Given the description of an element on the screen output the (x, y) to click on. 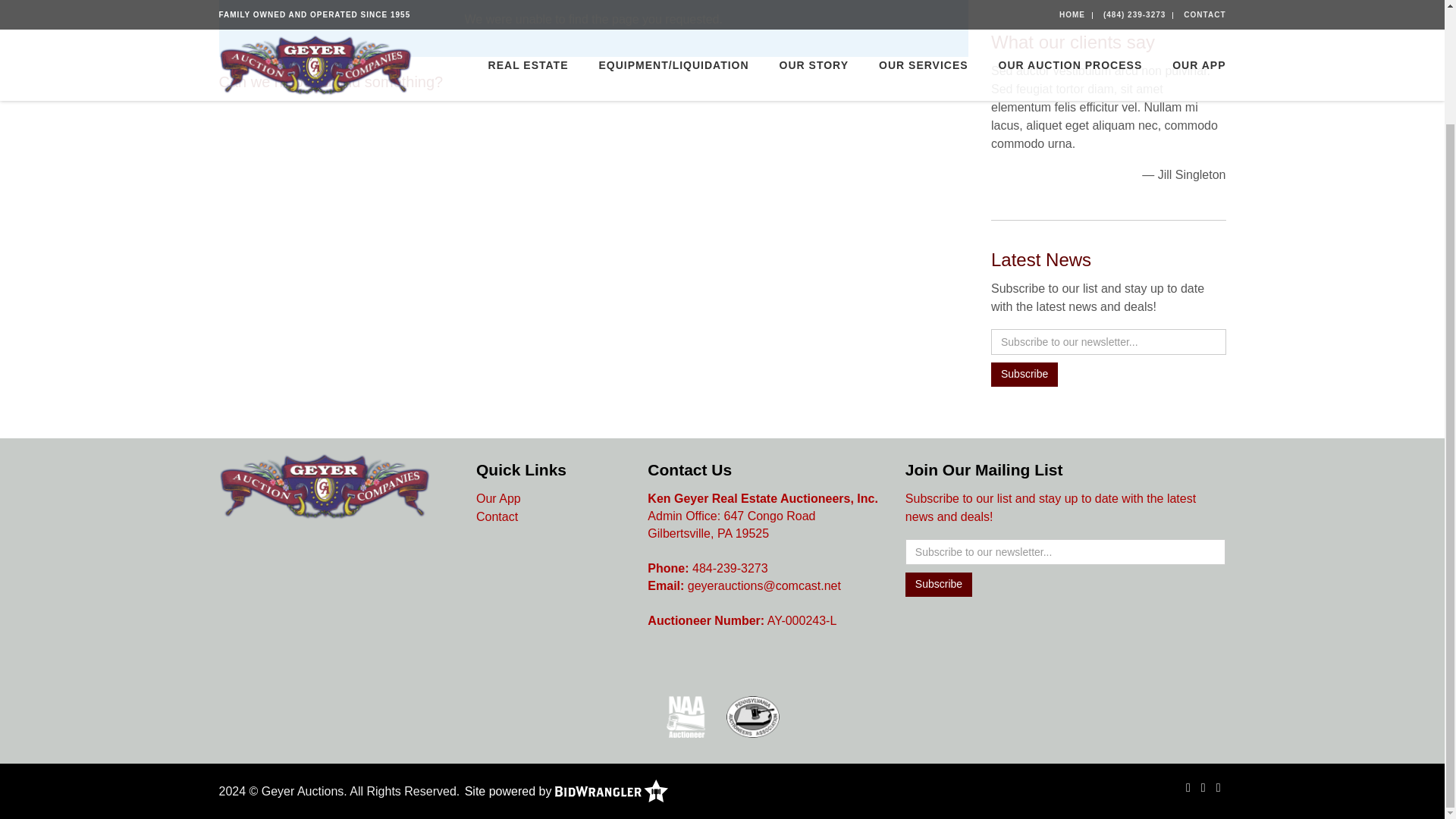
Contact (497, 516)
Never miss a bidder. (566, 790)
Our App (498, 498)
Geyer Auctions (323, 498)
Subscribe (938, 584)
484-239-3273 (730, 567)
Subscribe (938, 584)
Subscribe (1024, 374)
Our App (498, 498)
Contact (497, 516)
Subscribe (1024, 374)
Site powered by (566, 790)
National Association of Auctioneers (685, 716)
Paa-fff (752, 716)
